Given the description of an element on the screen output the (x, y) to click on. 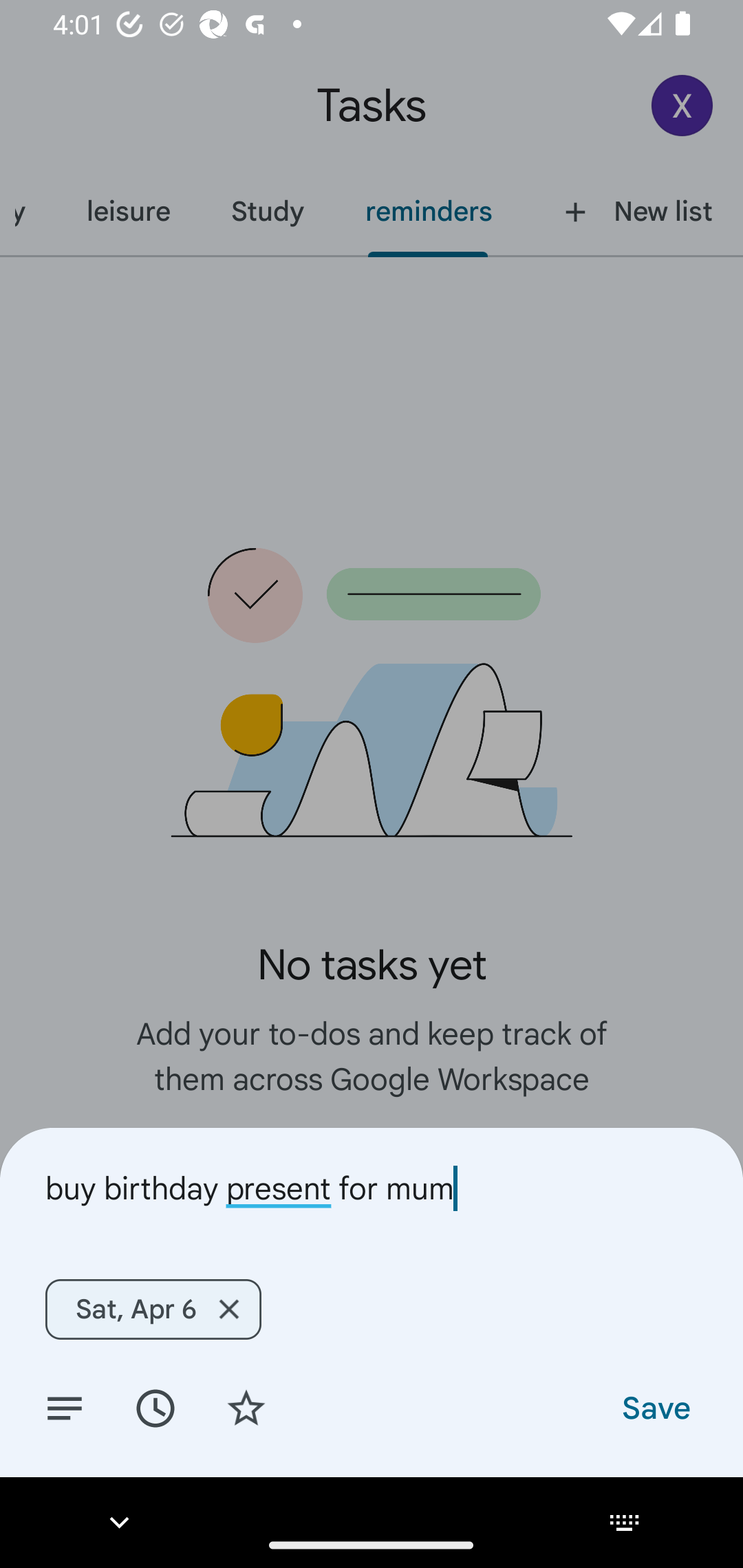
buy birthday present for mum (371, 1188)
Sat, Apr 6 Remove Sat, Apr 6 (153, 1308)
Save (655, 1407)
Add details (64, 1407)
Set date/time (154, 1407)
Add star (245, 1407)
